Given the description of an element on the screen output the (x, y) to click on. 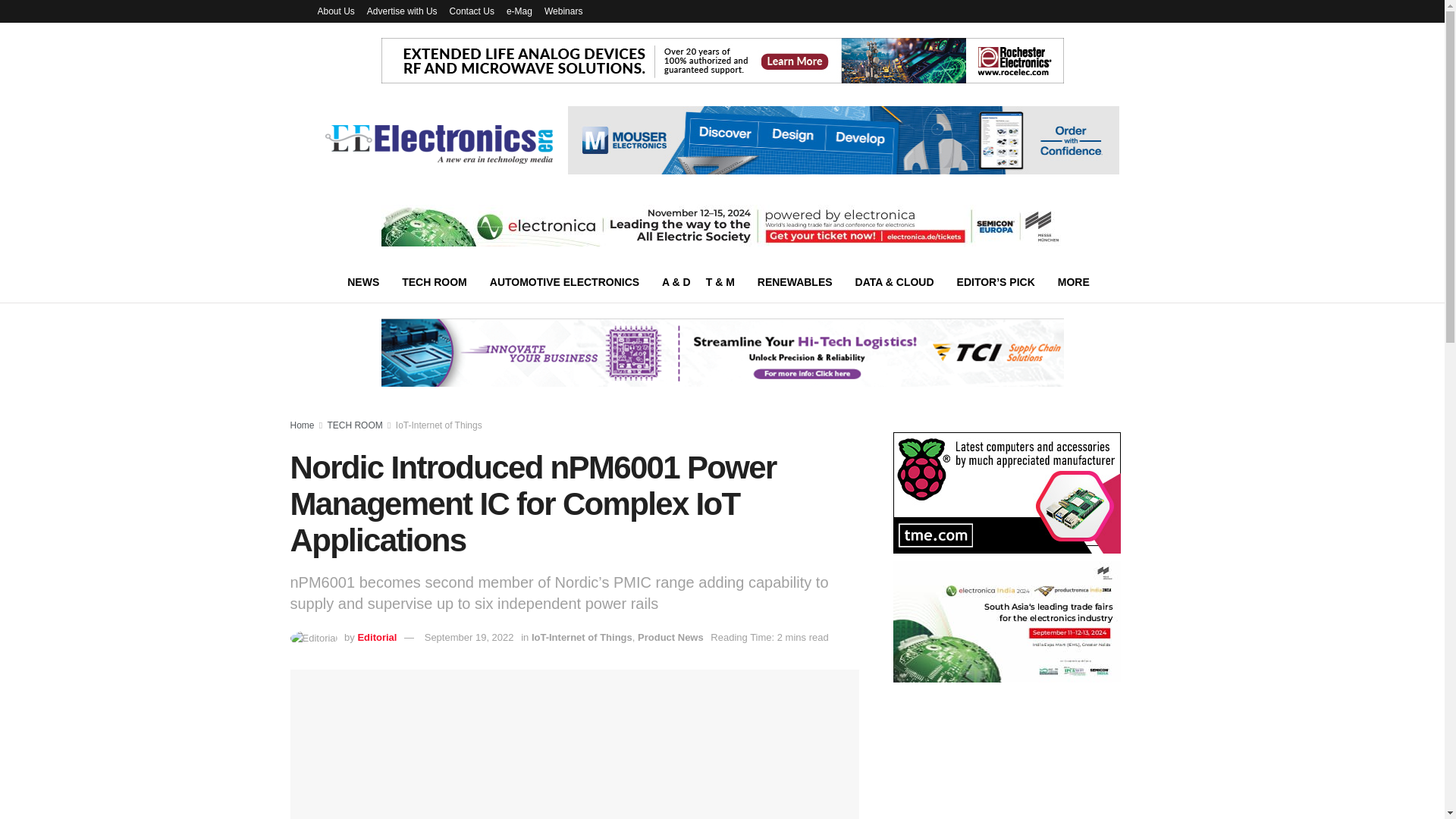
About Us (335, 11)
Webinars (563, 11)
Contact Us (472, 11)
e-Mag (519, 11)
Advertise with Us (402, 11)
